Given the description of an element on the screen output the (x, y) to click on. 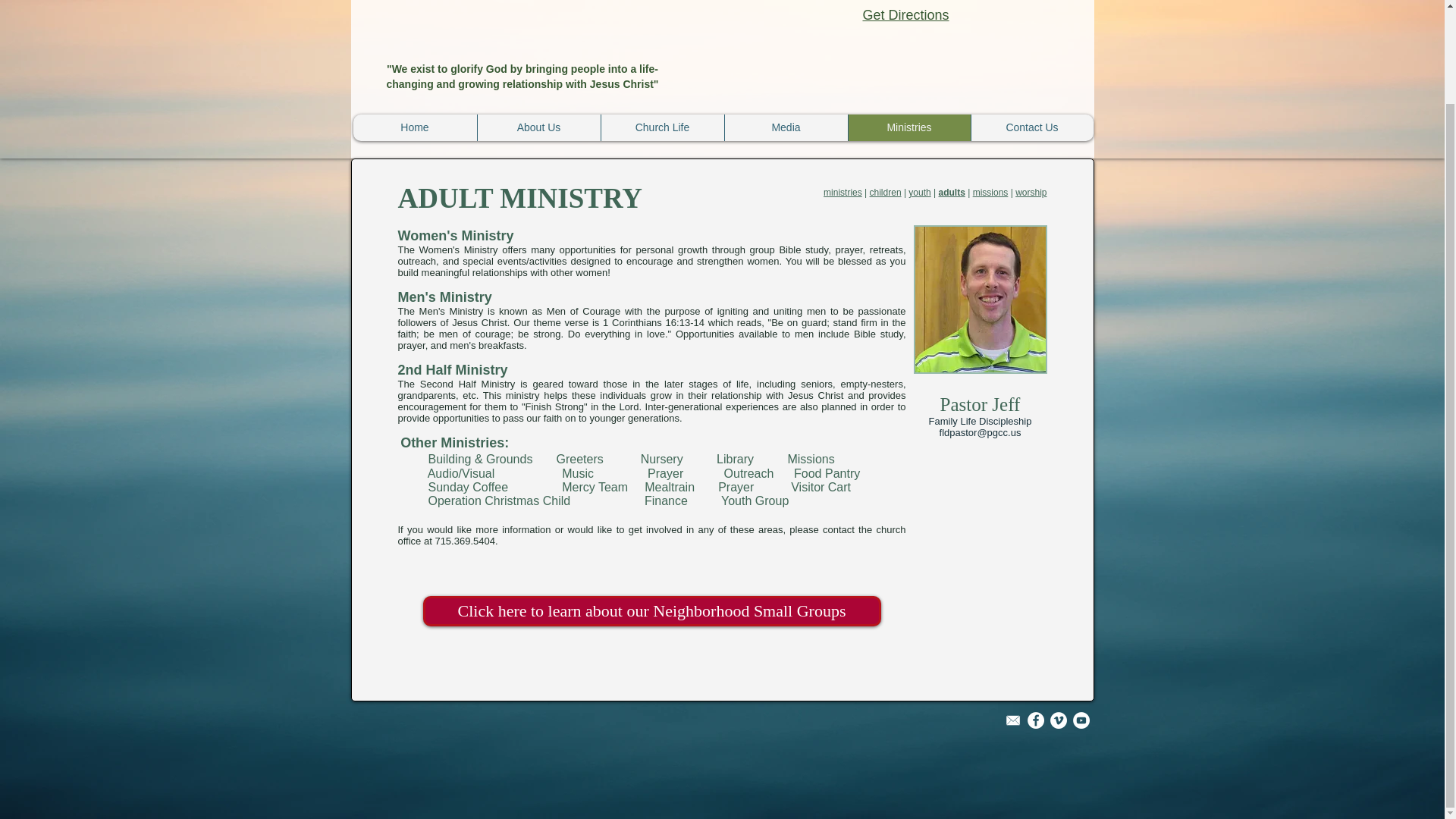
youth (919, 192)
Ministries (909, 127)
Church Life (661, 127)
Contact Us (1032, 127)
adults (952, 192)
children (885, 192)
Media (785, 127)
Click here to learn about our Neighborhood Small Groups (651, 611)
About Us (537, 127)
worship (1030, 192)
Get Directions (905, 14)
missions (990, 192)
Home (415, 127)
ministries (842, 192)
